Given the description of an element on the screen output the (x, y) to click on. 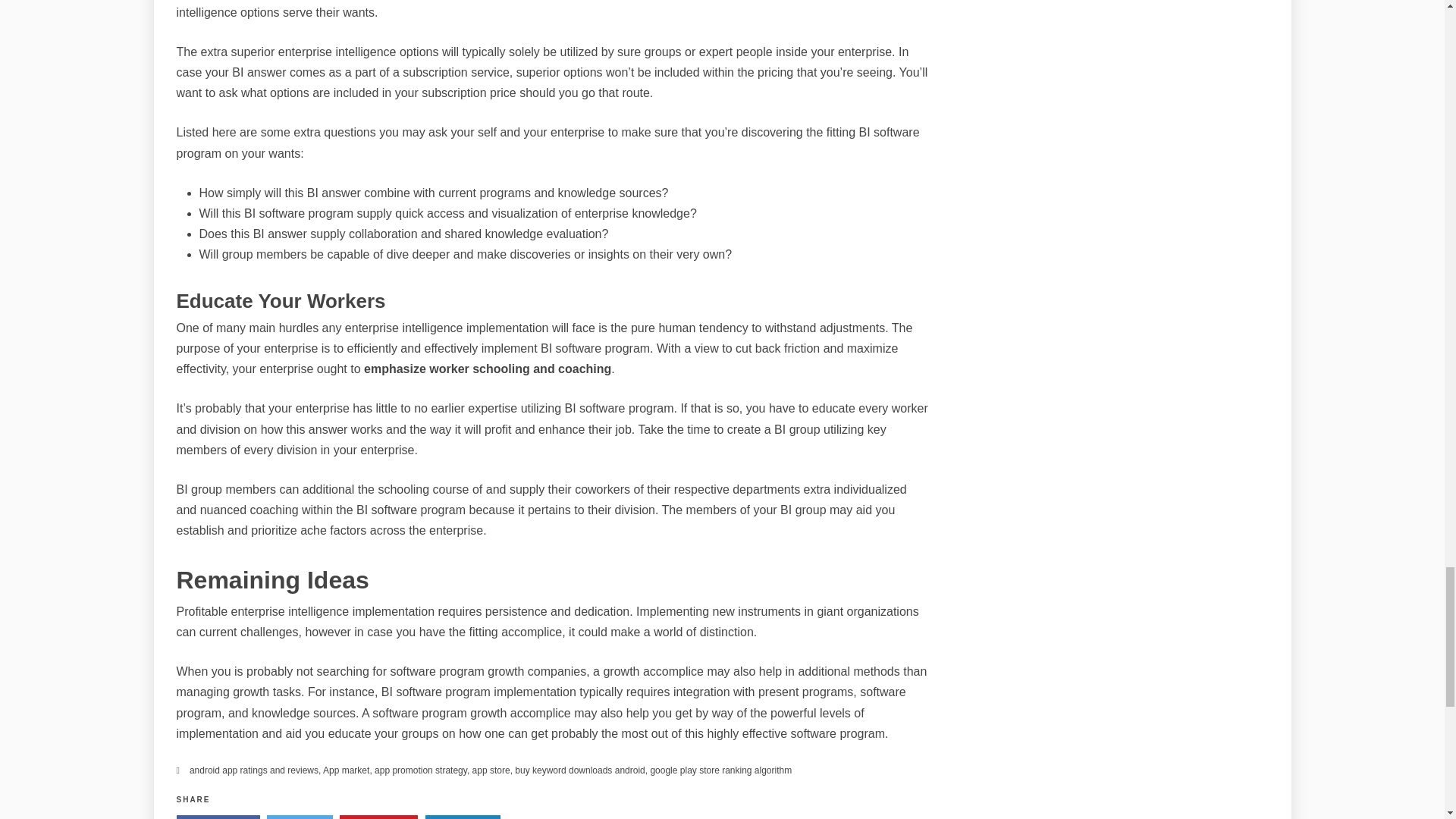
app promotion strategy (420, 769)
app store (491, 769)
Linkedin (462, 816)
App market (346, 769)
google play store ranking algorithm (720, 769)
Facebook (217, 816)
android app ratings and reviews (253, 769)
Twitter (299, 816)
Pinterest (378, 816)
buy keyword downloads android (580, 769)
